Given the description of an element on the screen output the (x, y) to click on. 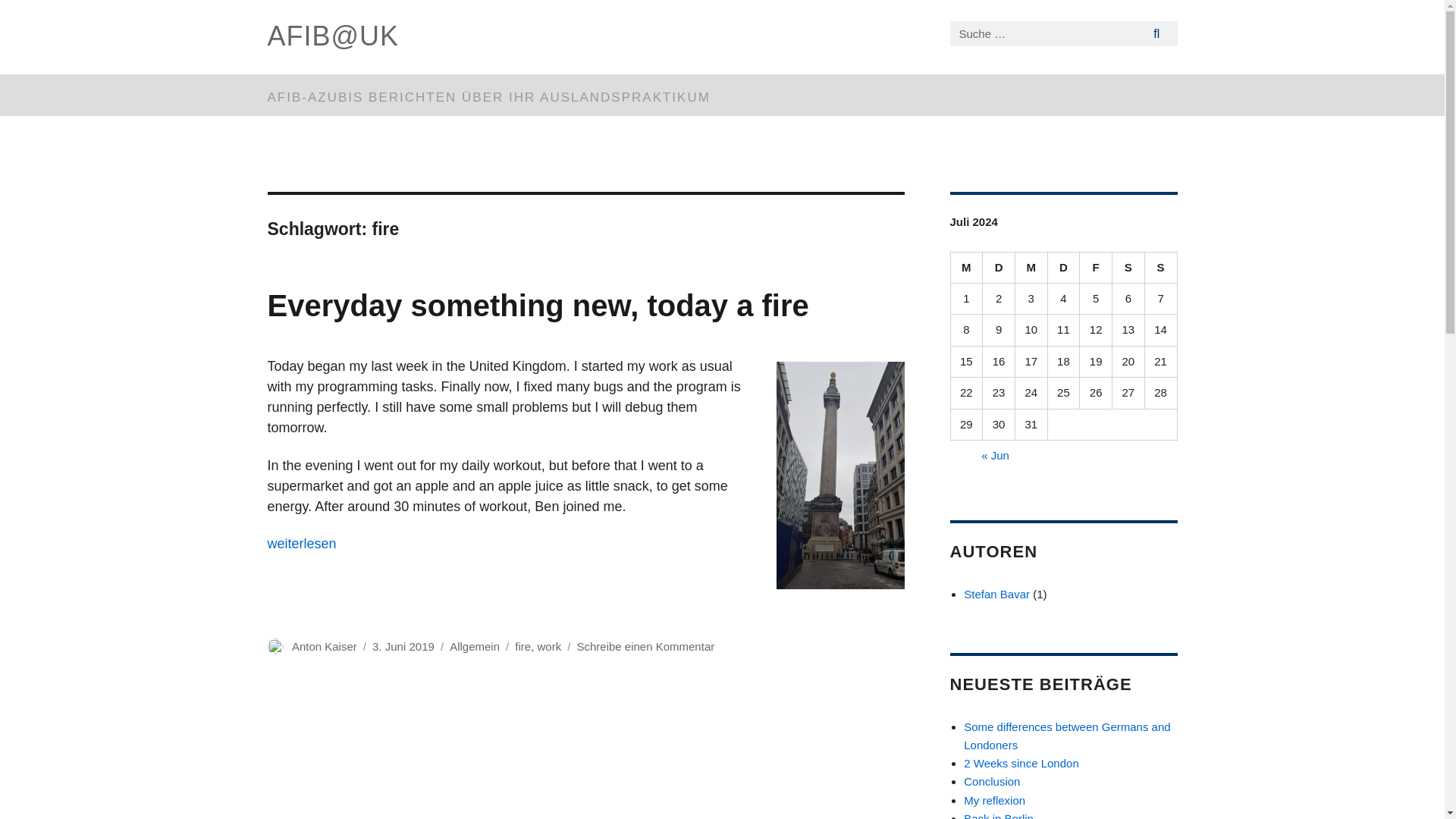
Stefan Bavar (996, 594)
2 Weeks since London (1020, 762)
Allgemein (474, 645)
work (548, 645)
Everyday something new, today a fire (537, 305)
My reflexion (994, 799)
Anton Kaiser (324, 645)
Some differences between Germans and Londoners (1066, 735)
Samstag (1128, 267)
Freitag (1096, 267)
Dienstag (998, 267)
Conclusion (991, 780)
Montag (967, 267)
Sonntag (1160, 267)
